Given the description of an element on the screen output the (x, y) to click on. 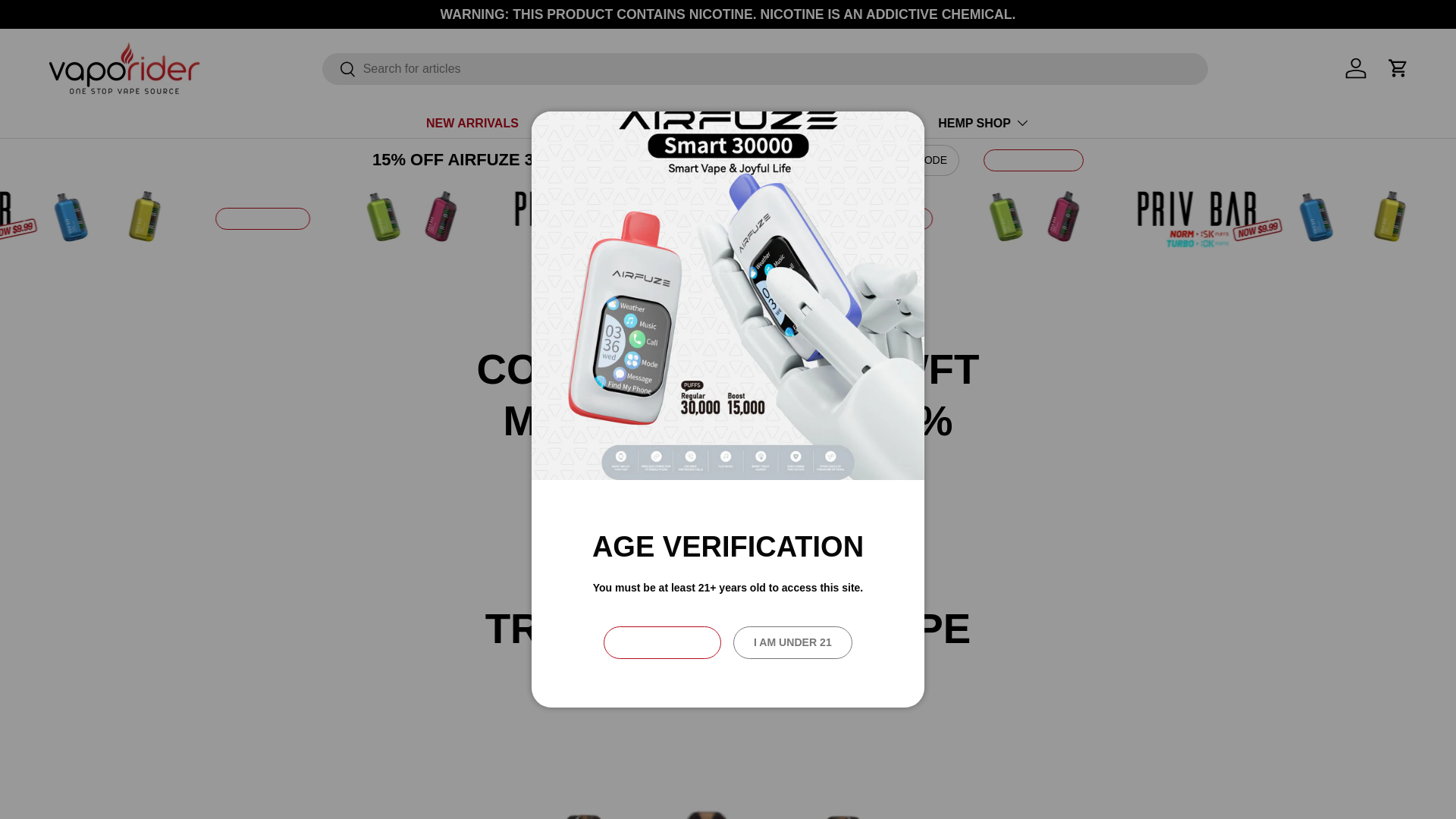
DEALS (566, 122)
GET DEAL (73, 219)
DISPOSABLES (667, 122)
SKIP TO CONTENT (68, 21)
GET DEAL (460, 218)
Cart (1398, 68)
GET DEAL (1333, 219)
NEW ARRIVALS (472, 123)
GET DEAL (72, 218)
Search (338, 69)
